Given the description of an element on the screen output the (x, y) to click on. 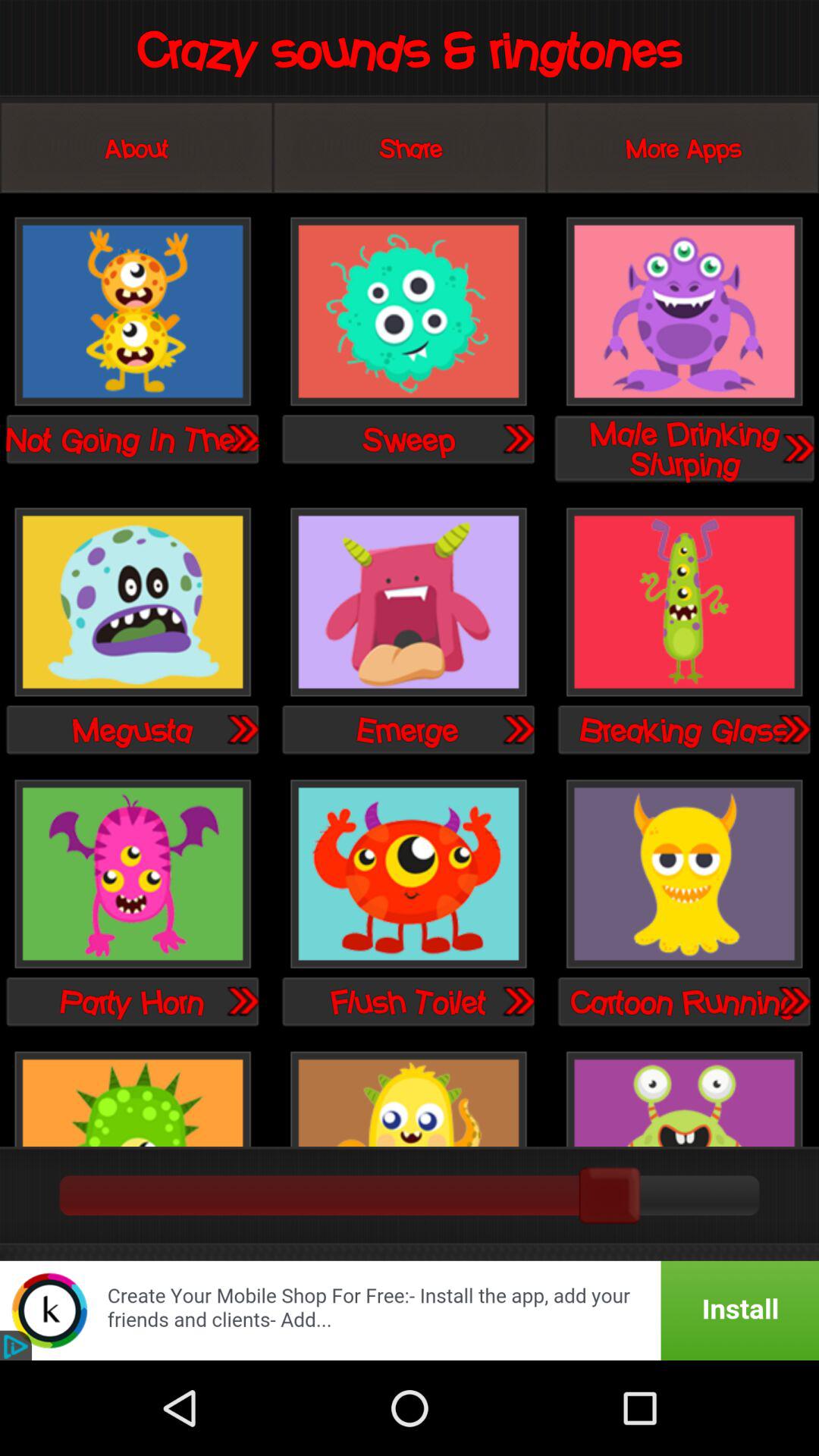
try ringtone (518, 728)
